Given the description of an element on the screen output the (x, y) to click on. 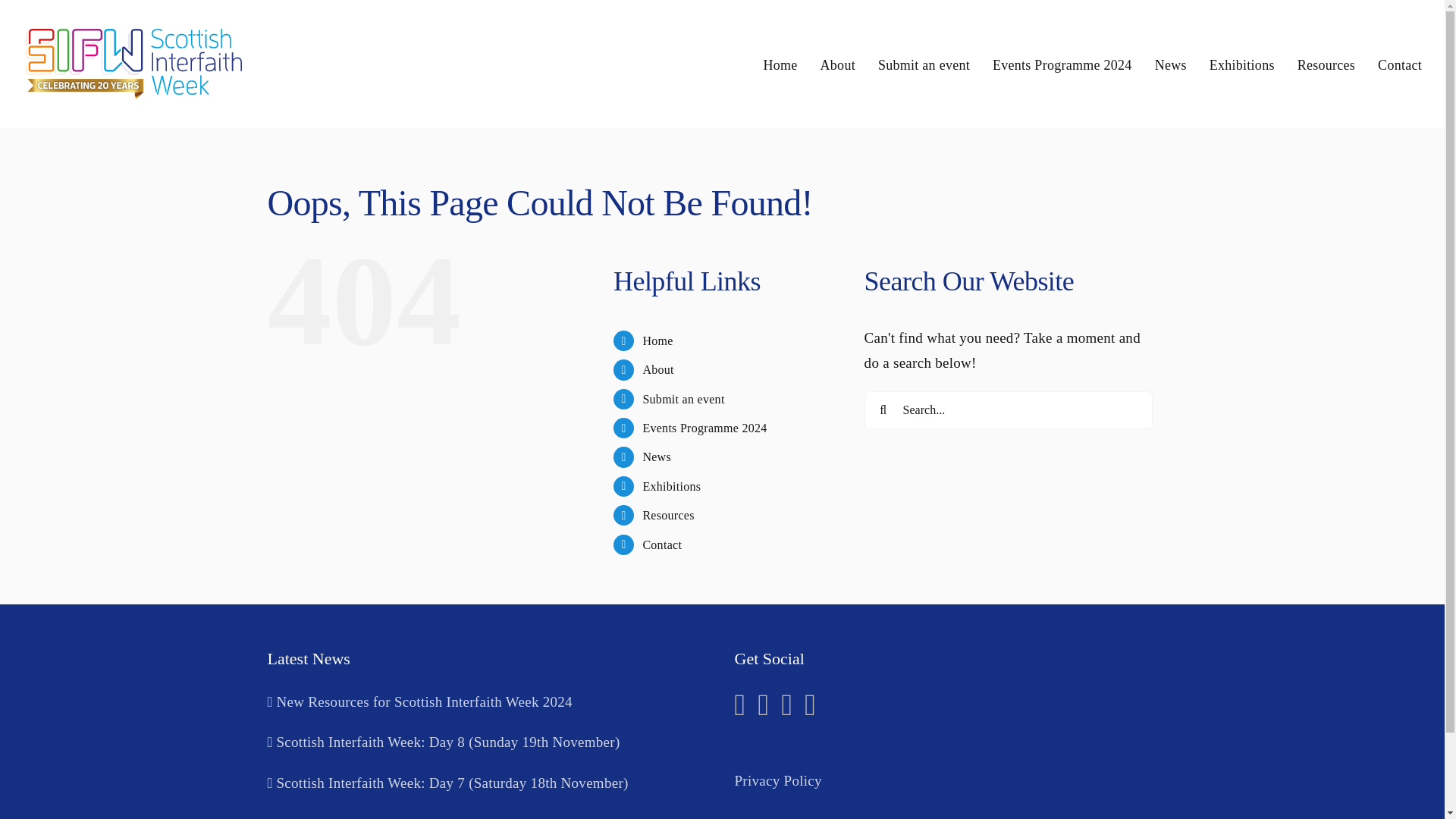
Events Programme 2024 (704, 427)
Exhibitions (671, 486)
New Resources for Scottish Interfaith Week 2024 (488, 702)
Contact (661, 544)
Home (657, 340)
Submit an event (682, 399)
News (656, 456)
Resources (668, 514)
Privacy Policy (777, 780)
Events Programme 2024 (1062, 63)
